Given the description of an element on the screen output the (x, y) to click on. 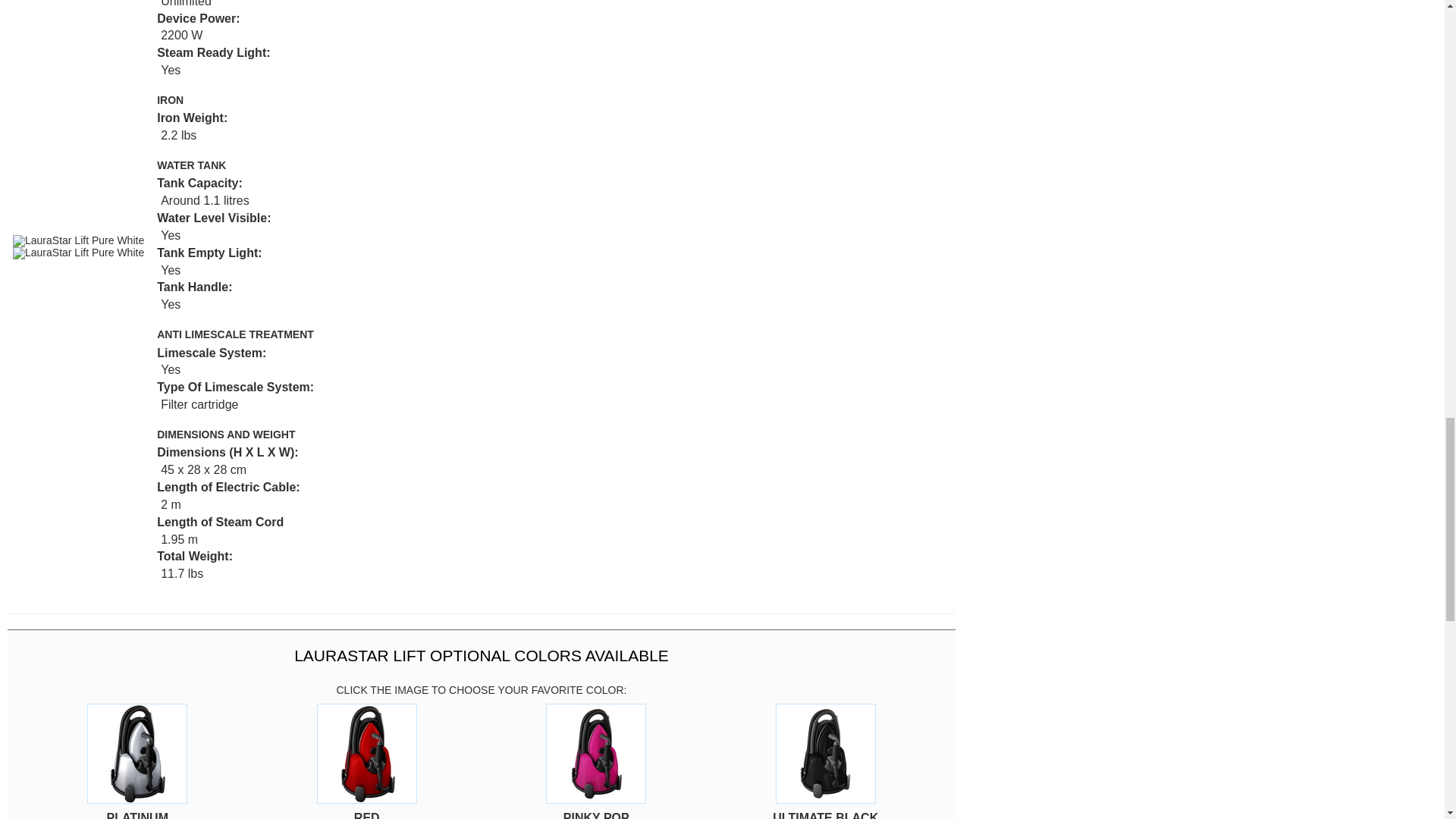
Laurastar Lift - Pinky Pop (596, 753)
LauraStar Lift Pure White (78, 253)
Laurastar Lift - Platinum (137, 753)
Laurastar Lift - Red (366, 753)
Laurastar Lift - Ultimate Black (826, 753)
LauraStar Lift Pure White (78, 241)
